Given the description of an element on the screen output the (x, y) to click on. 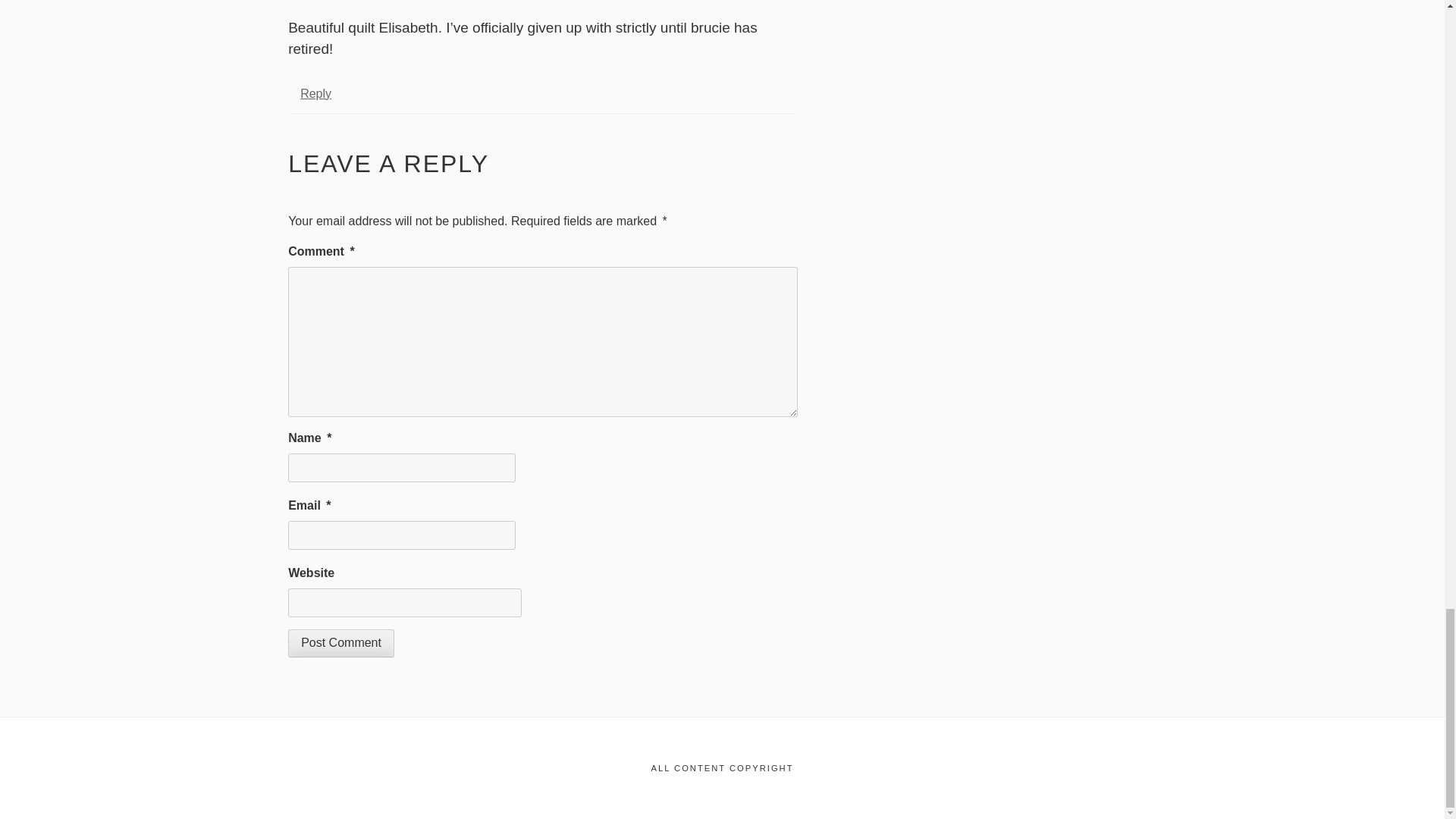
15th November 2012 at 5:54 am (386, 1)
Reply (315, 92)
Post Comment (341, 643)
Post Comment (341, 643)
